Given the description of an element on the screen output the (x, y) to click on. 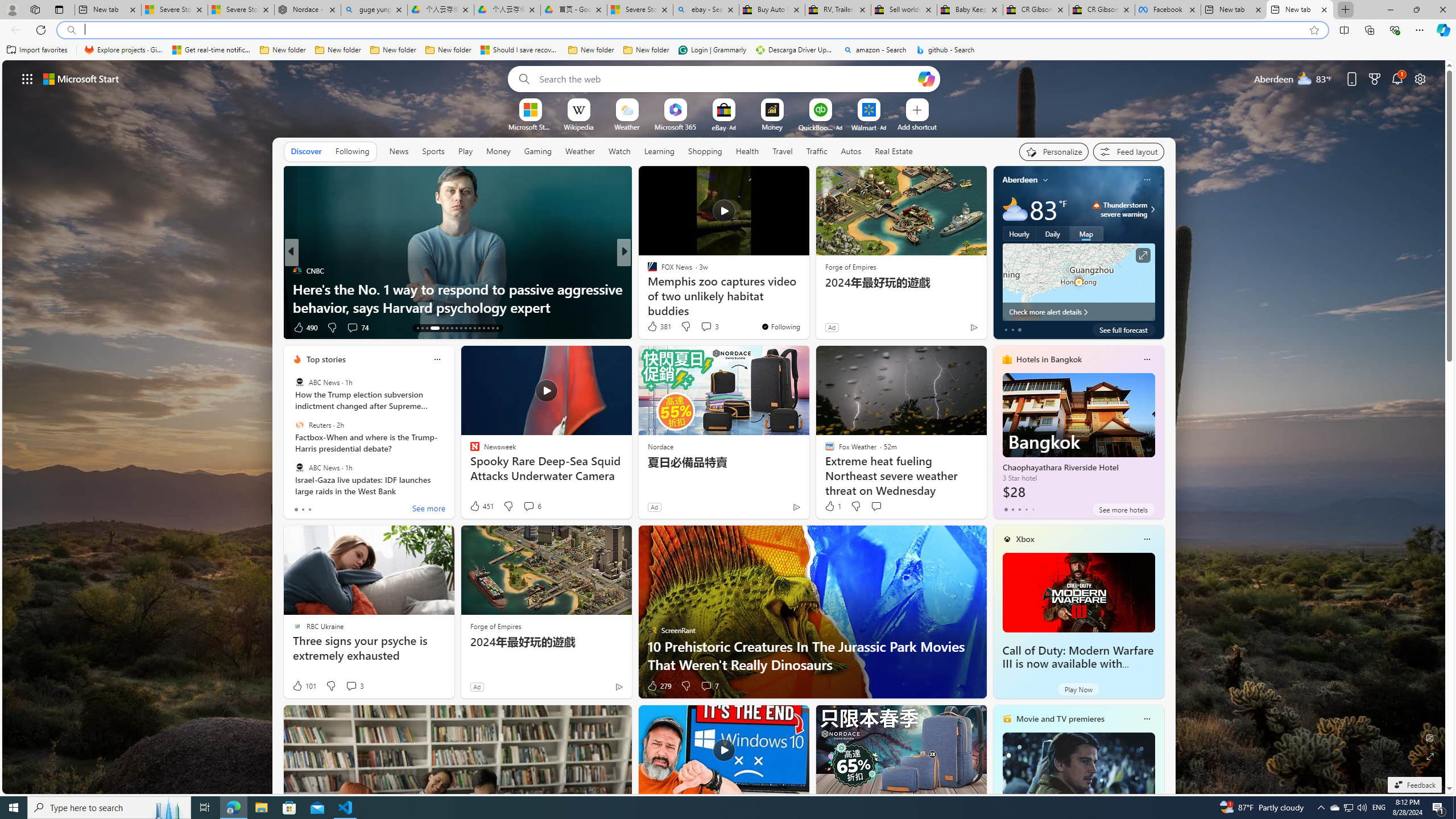
Favorites bar (728, 49)
311 Like (654, 327)
Microsoft start (81, 78)
View comments 3 Comment (354, 685)
Mostly cloudy (1014, 208)
AZ Animals (US) (647, 288)
Microsoft rewards (1374, 78)
20 Like (652, 327)
AutomationID: tab-26 (483, 328)
Real Estate (893, 151)
192 Like (654, 327)
View comments 6 Comment (532, 505)
